Given the description of an element on the screen output the (x, y) to click on. 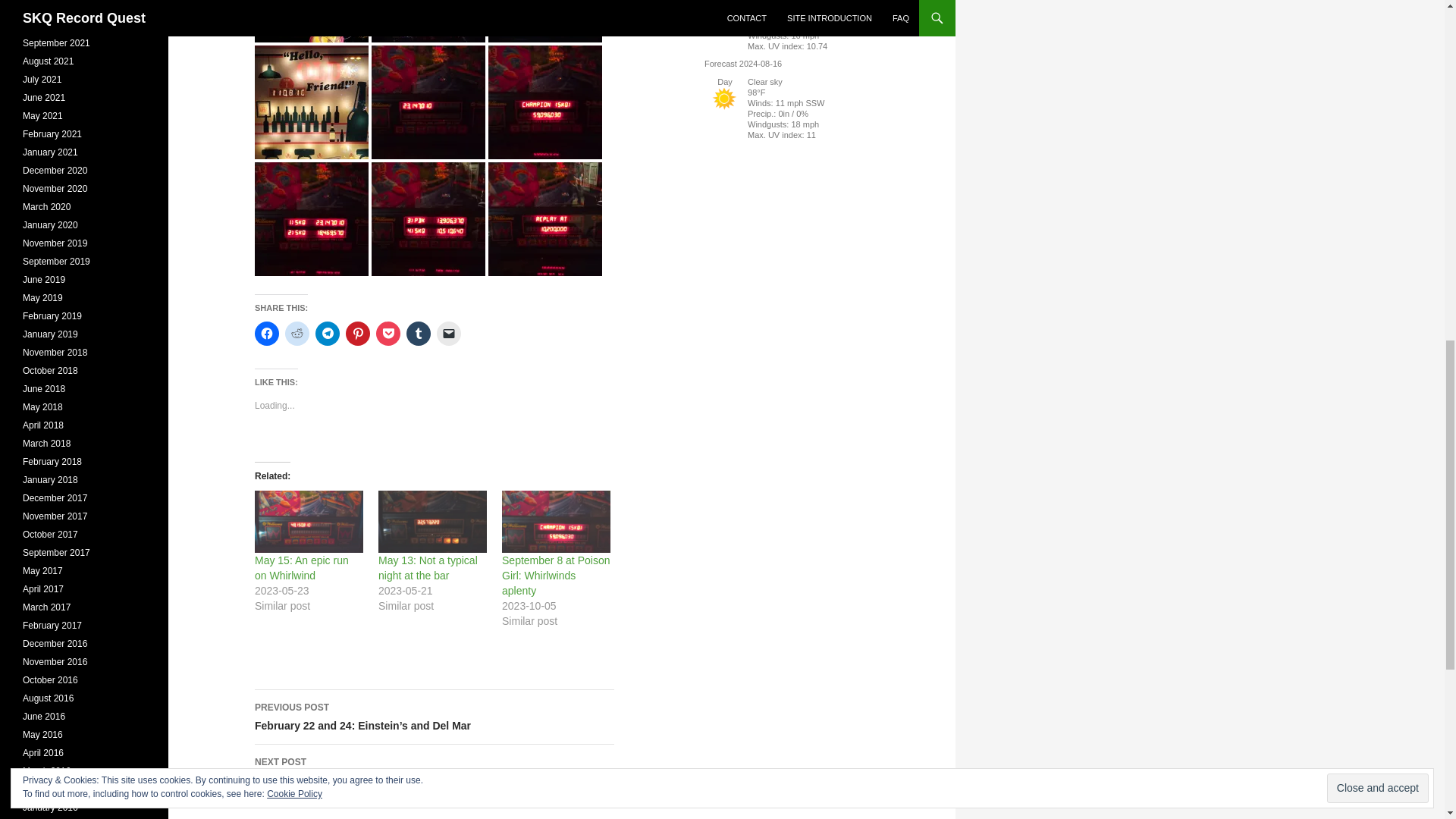
May 13: Not a typical night at the bar (432, 521)
Click to share on Telegram (327, 333)
Click to share on Pinterest (357, 333)
May 13: Not a typical night at the bar (427, 567)
May 13: Not a typical night at the bar (427, 567)
May 15: An epic run on Whirlwind (301, 567)
Click to share on Facebook (266, 333)
Click to share on Pocket (387, 333)
September 8 at Poison Girl: Whirlwinds aplenty (556, 521)
Click to share on Reddit (296, 333)
